Given the description of an element on the screen output the (x, y) to click on. 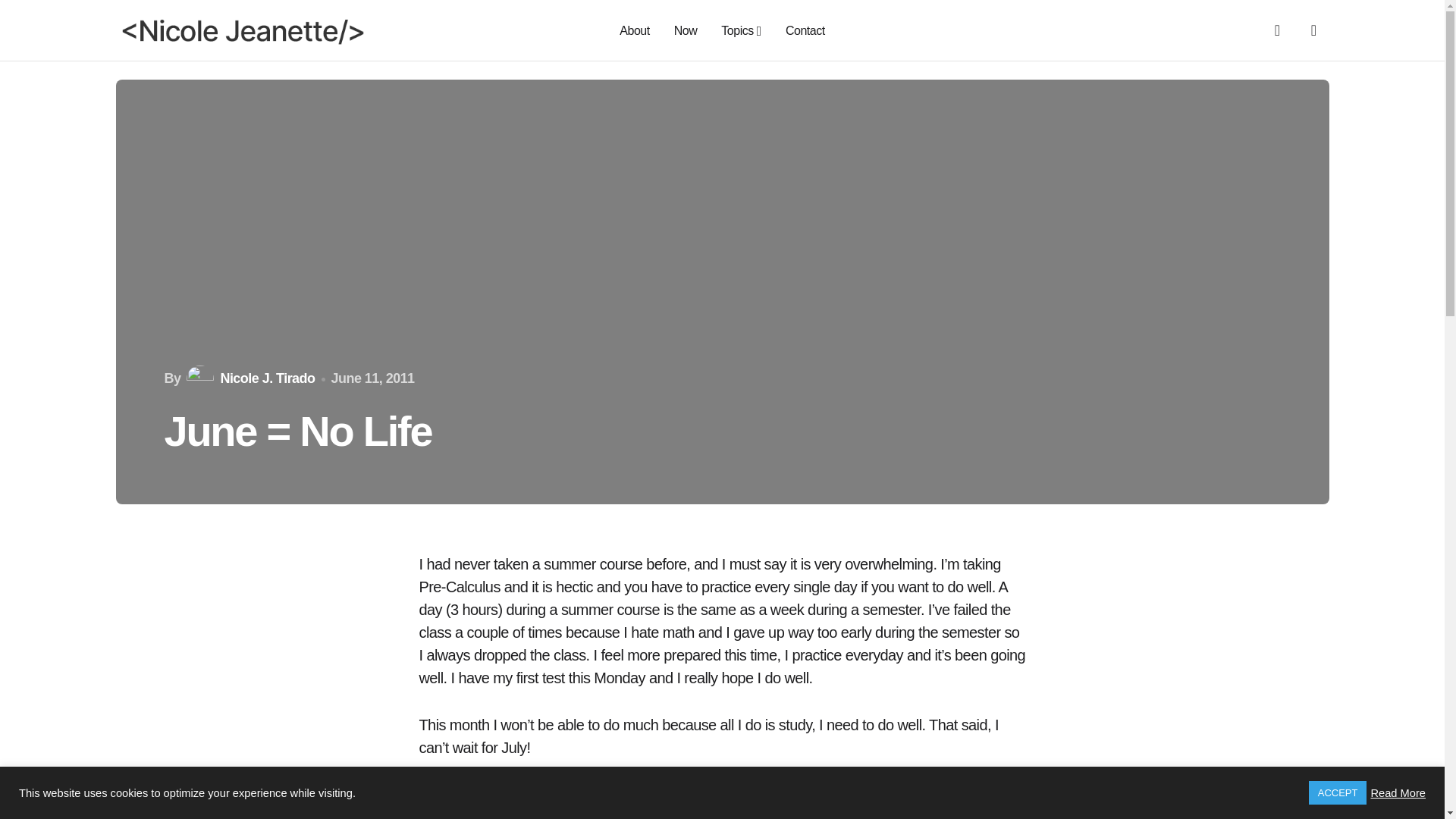
Summer (668, 810)
Nicole J. Tirado (248, 379)
Education (451, 810)
Pre-Calculus (592, 810)
Practice (518, 810)
Summer Class (747, 810)
